Given the description of an element on the screen output the (x, y) to click on. 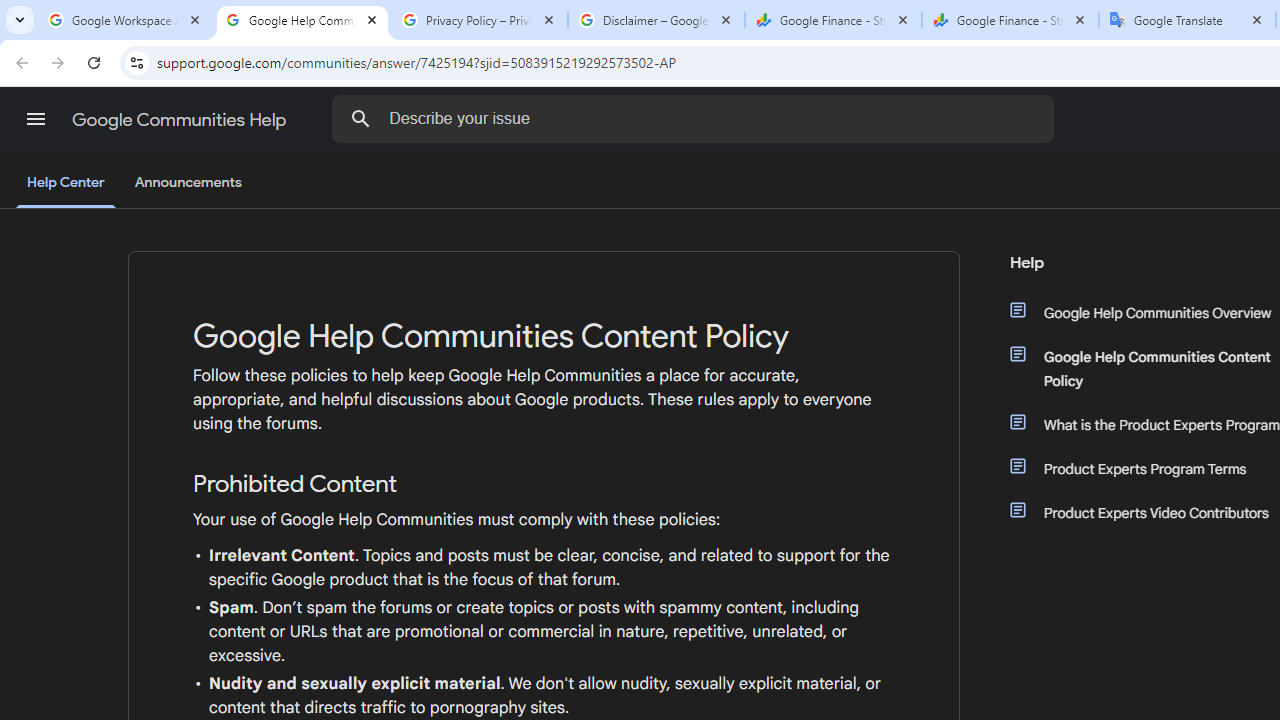
Google Workspace Admin Community (125, 20)
Main menu (35, 119)
Google Communities Help (180, 119)
Describe your issue (696, 118)
Search Help Center (361, 118)
